Given the description of an element on the screen output the (x, y) to click on. 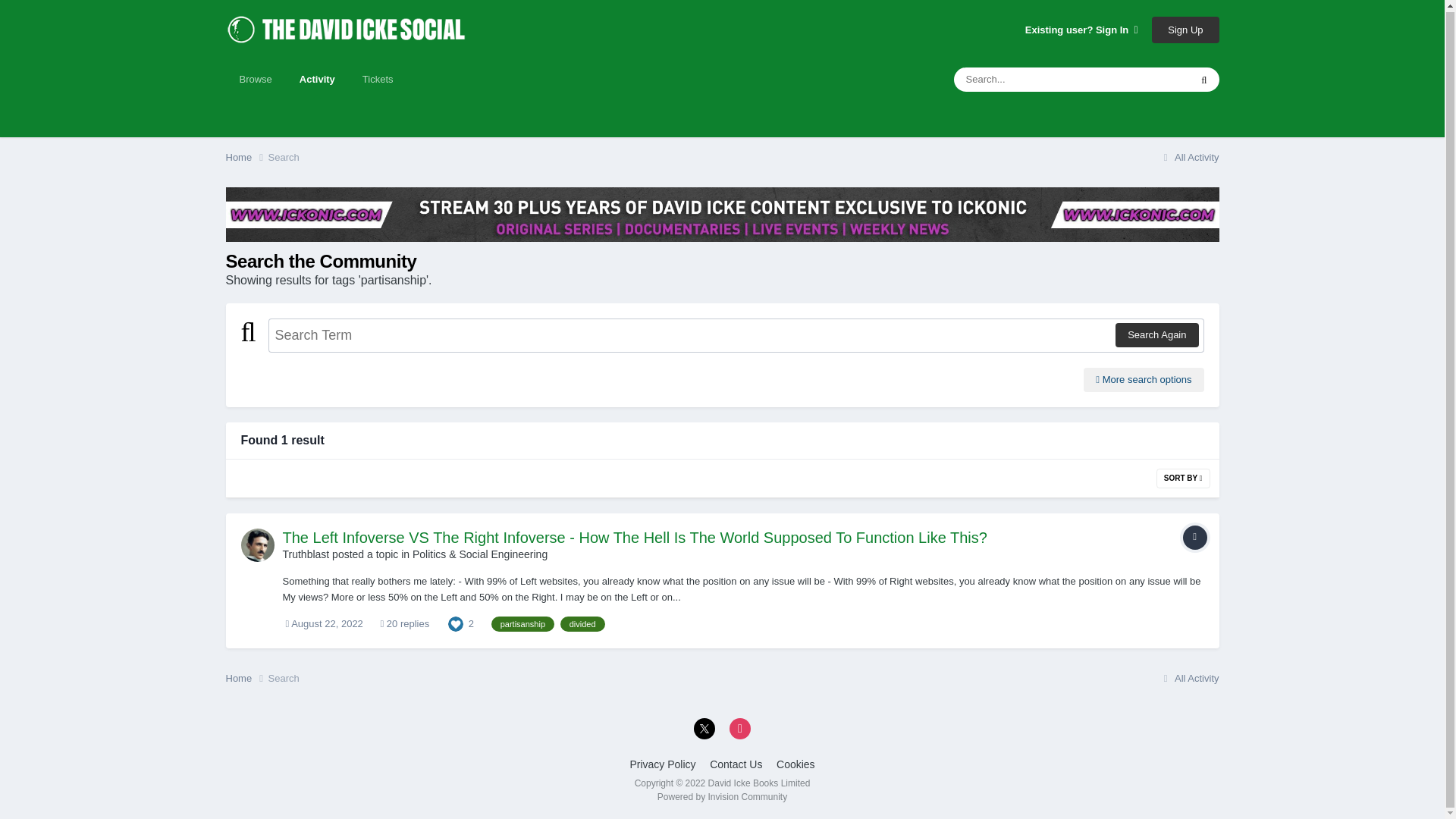
Search Again (1156, 334)
Home (246, 157)
Browse (255, 79)
Go to Truthblast's profile (305, 553)
Find other content tagged with 'divided' (582, 623)
Existing user? Sign In   (1081, 30)
Home (246, 157)
Go to Truthblast's profile (258, 544)
More search options (1143, 379)
Search (283, 156)
Invision Community (722, 796)
Like (455, 623)
Home (246, 678)
All Activity (1188, 156)
Activity (317, 79)
